Given the description of an element on the screen output the (x, y) to click on. 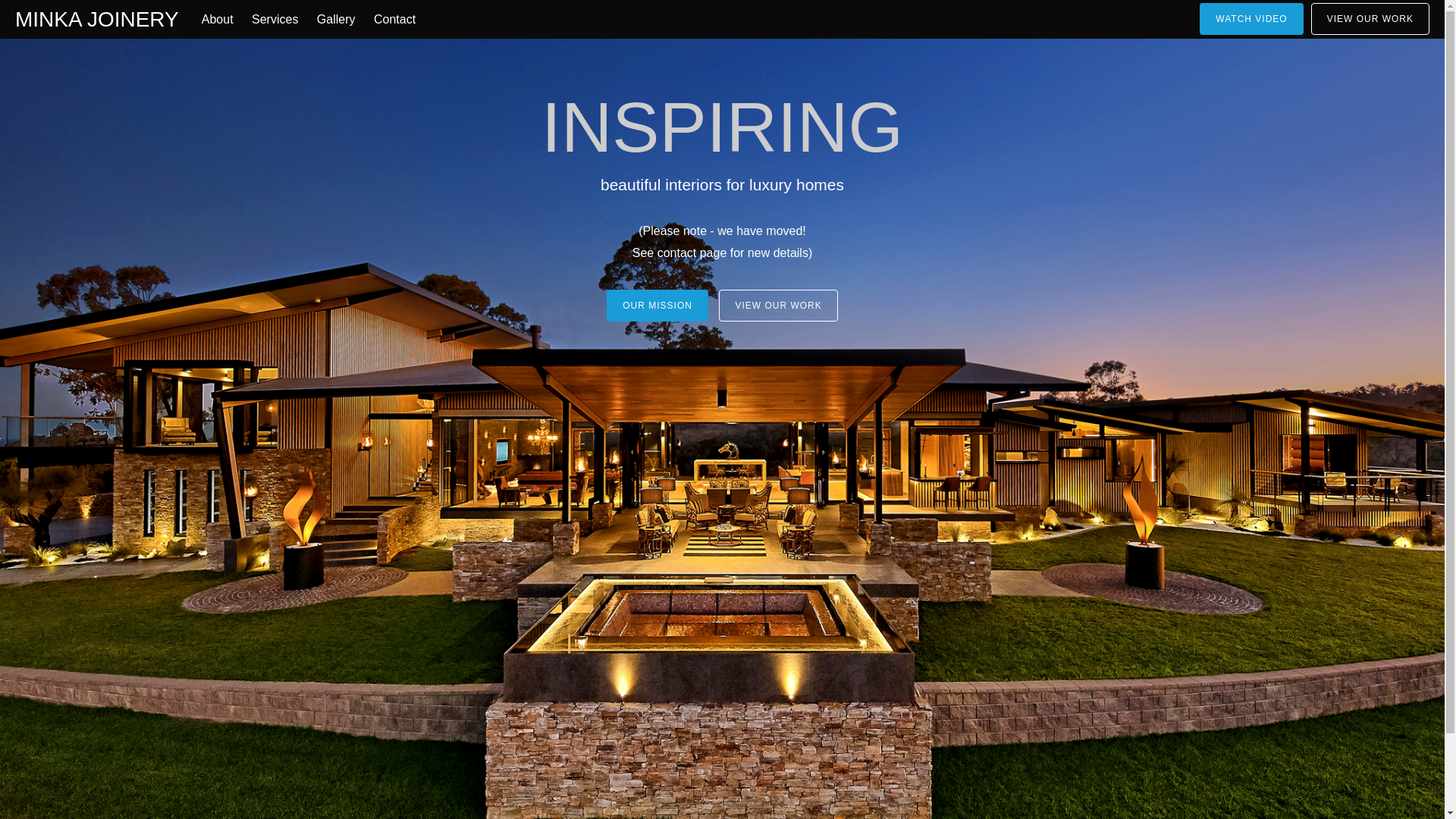
Contact Element type: text (394, 19)
VIEW OUR WORK Element type: text (1370, 18)
MINKA JOINERY Element type: text (96, 19)
Gallery Element type: text (336, 19)
OUR MISSION Element type: text (657, 305)
WATCH VIDEO Element type: text (1250, 18)
About Element type: text (217, 19)
VIEW OUR WORK Element type: text (777, 305)
Services Element type: text (274, 19)
